Given the description of an element on the screen output the (x, y) to click on. 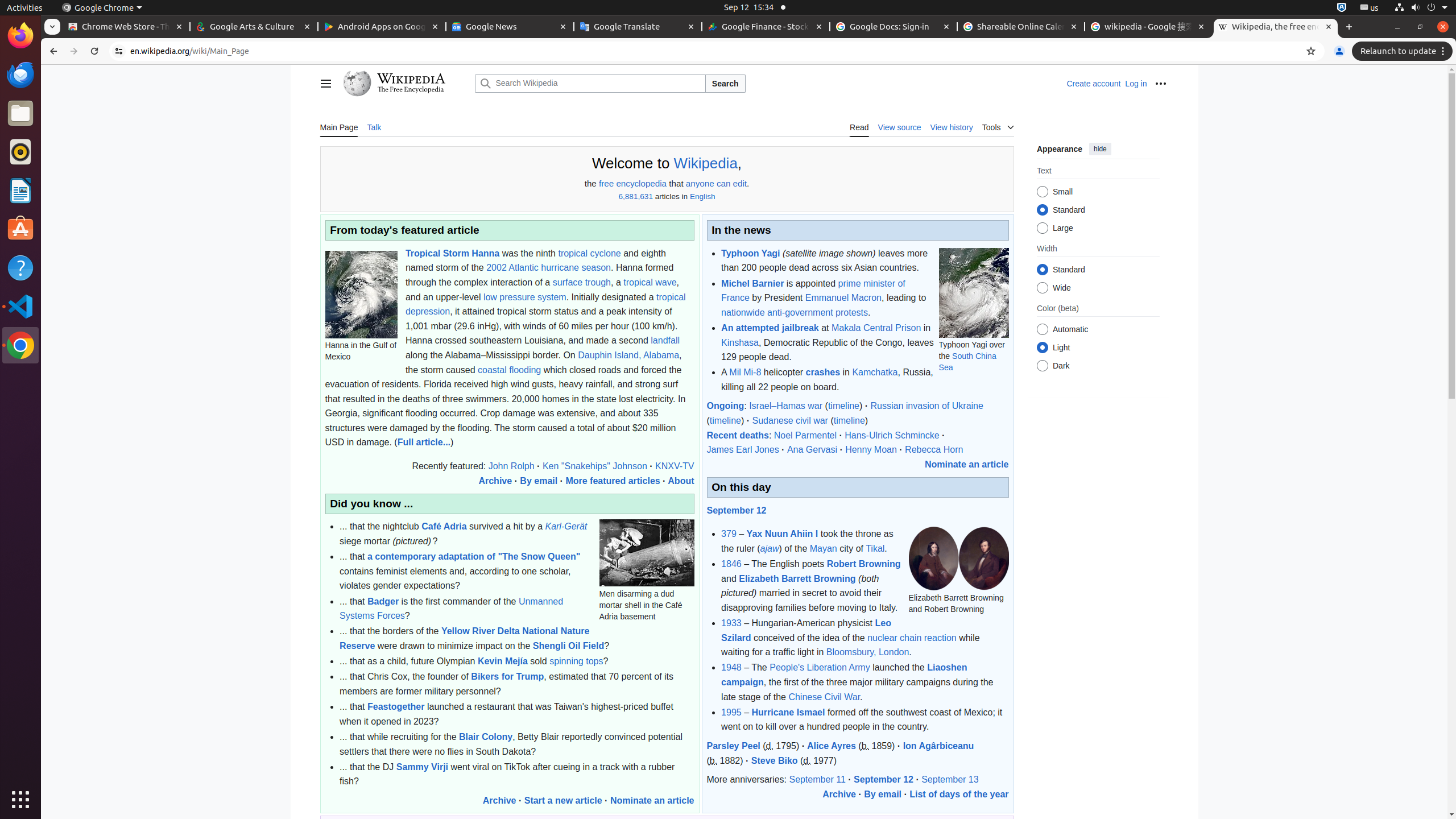
Michel Barnier Element type: link (752, 283)
September 13 Element type: link (949, 779)
nationwide anti-government protests Element type: link (794, 312)
tropical depression Element type: link (544, 303)
View source Element type: link (899, 126)
